Given the description of an element on the screen output the (x, y) to click on. 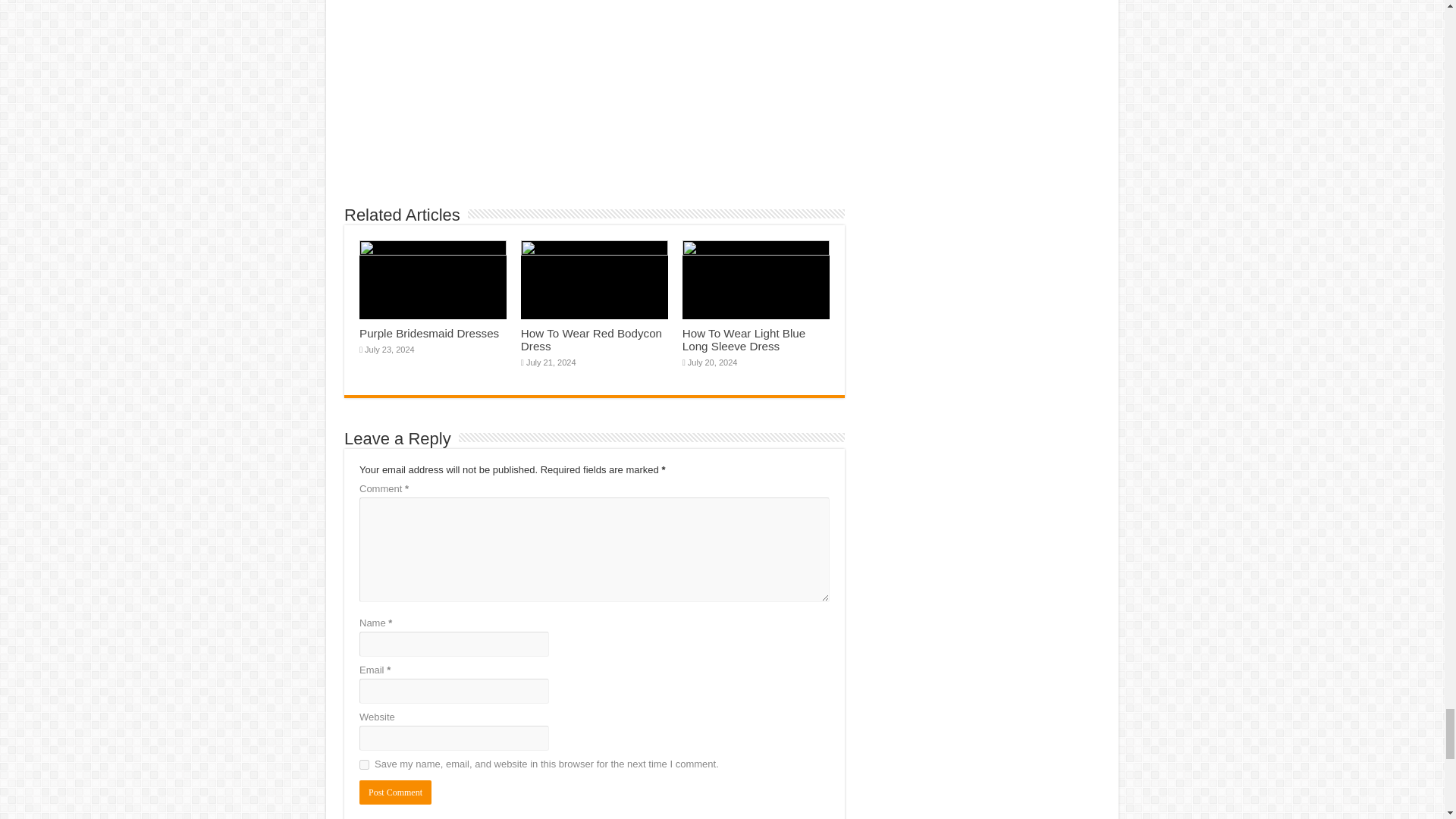
yes (364, 764)
How To Wear Red Bodycon Dress (591, 339)
Purple Bridesmaid Dresses (429, 332)
Post Comment (394, 792)
How To Wear Light Blue Long Sleeve Dress (744, 339)
Post Comment (394, 792)
